Given the description of an element on the screen output the (x, y) to click on. 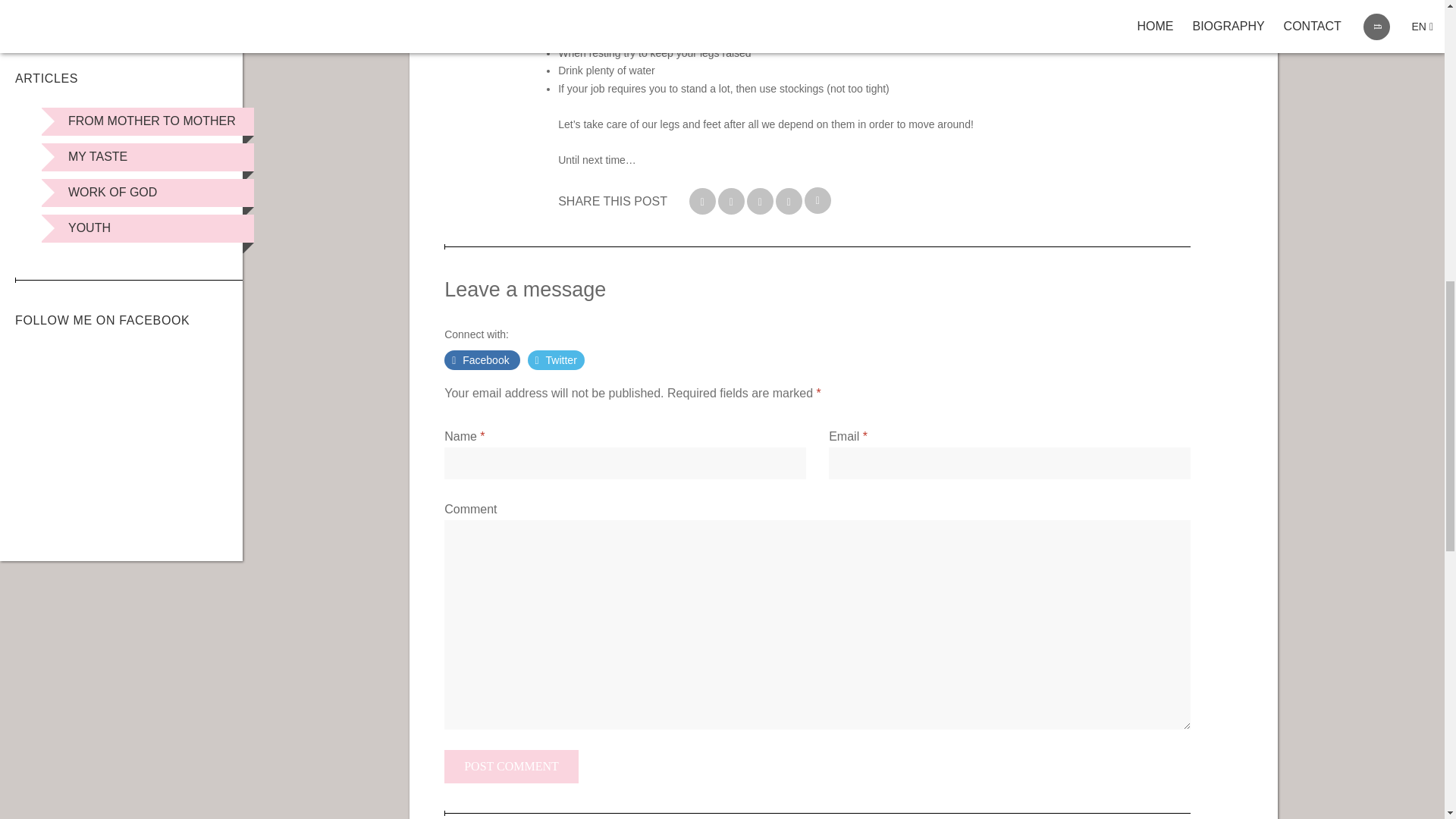
Connect with Twitter (556, 360)
Connect with Facebook (481, 360)
Post Comment (511, 766)
